Given the description of an element on the screen output the (x, y) to click on. 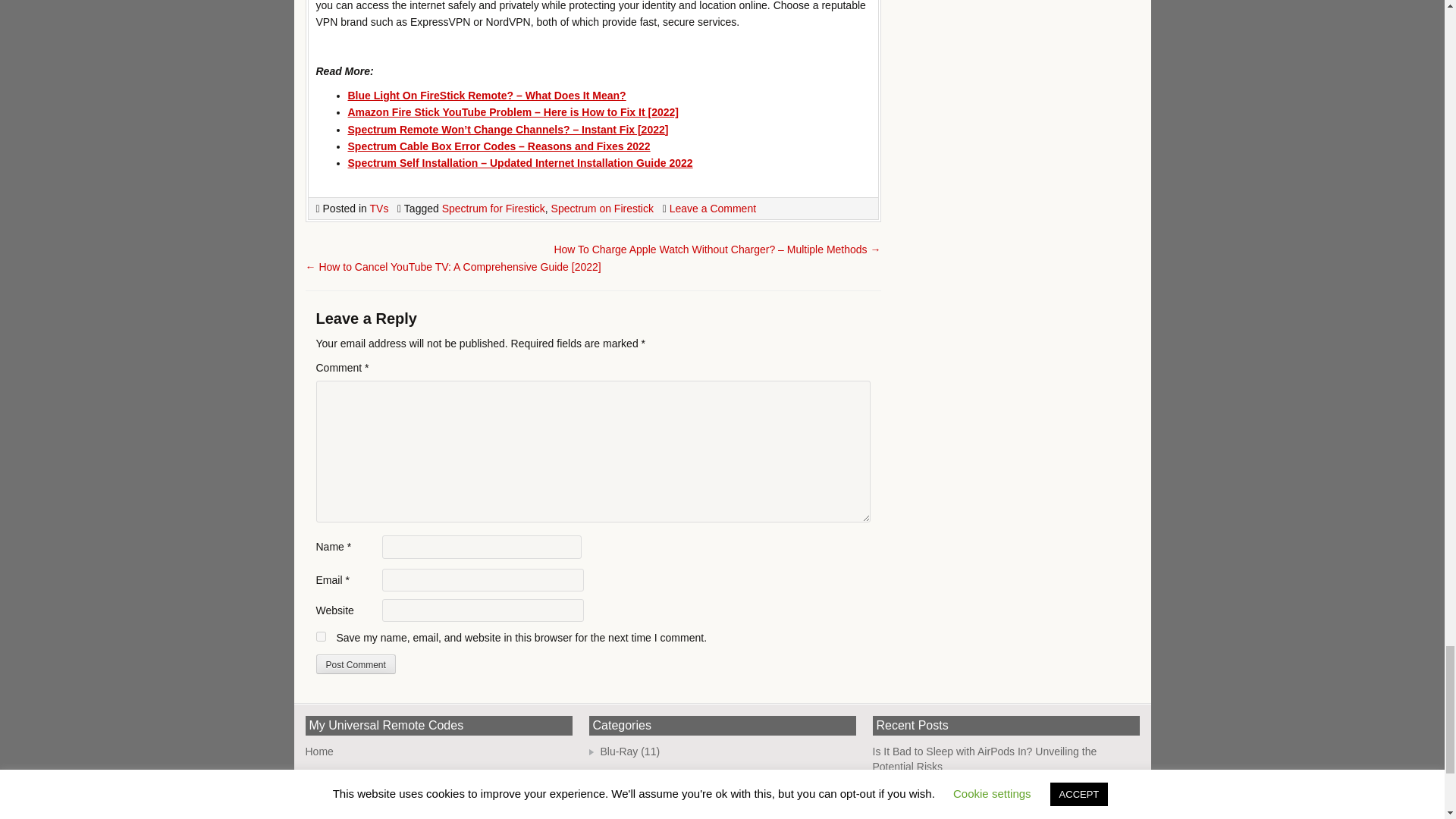
yes (319, 636)
Post Comment (354, 664)
